Given the description of an element on the screen output the (x, y) to click on. 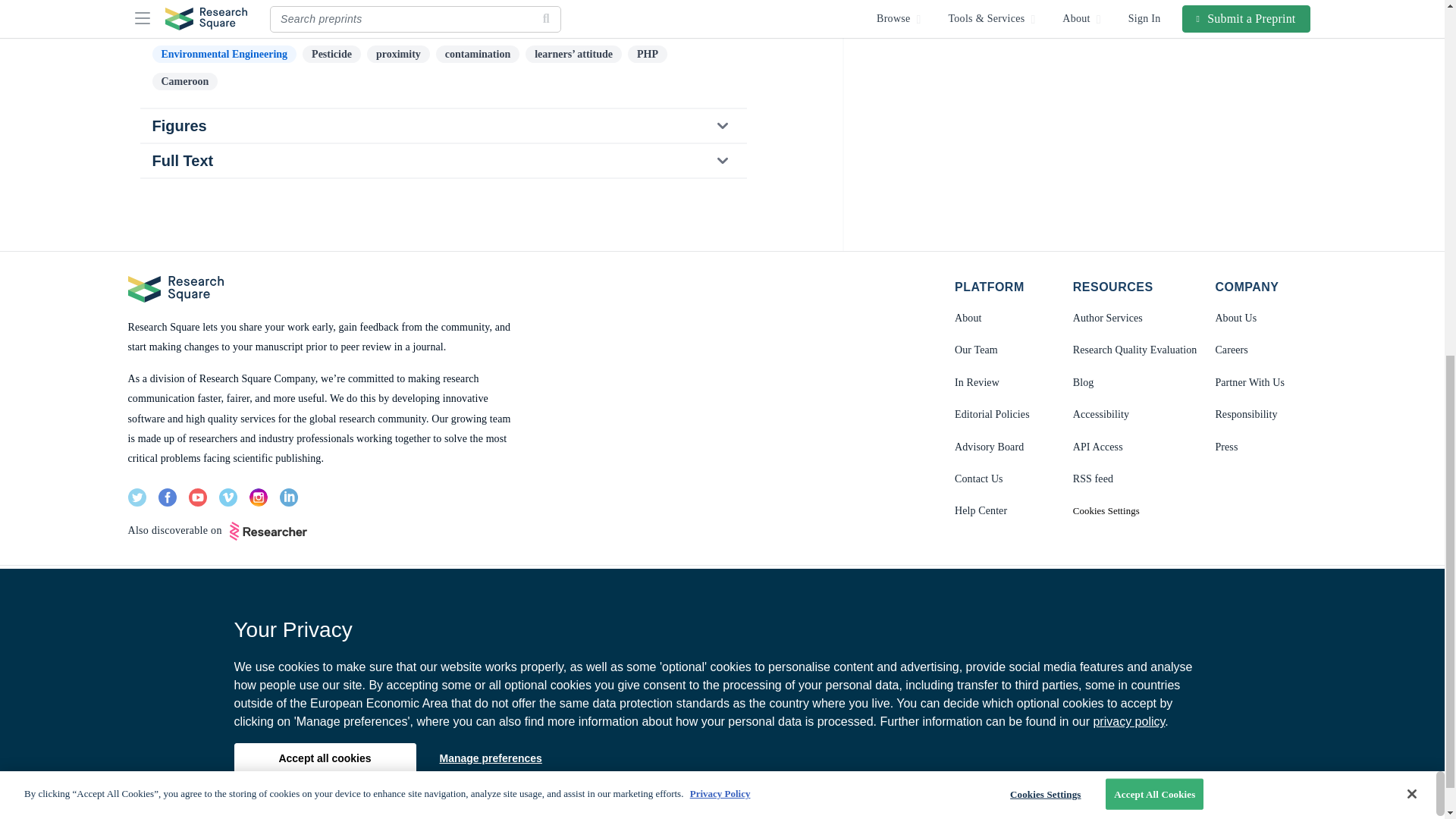
Figures (442, 125)
Environmental Engineering (224, 54)
Manage preferences (490, 105)
Accept all cookies (323, 105)
privacy policy (1128, 69)
Full Text (442, 160)
